Given the description of an element on the screen output the (x, y) to click on. 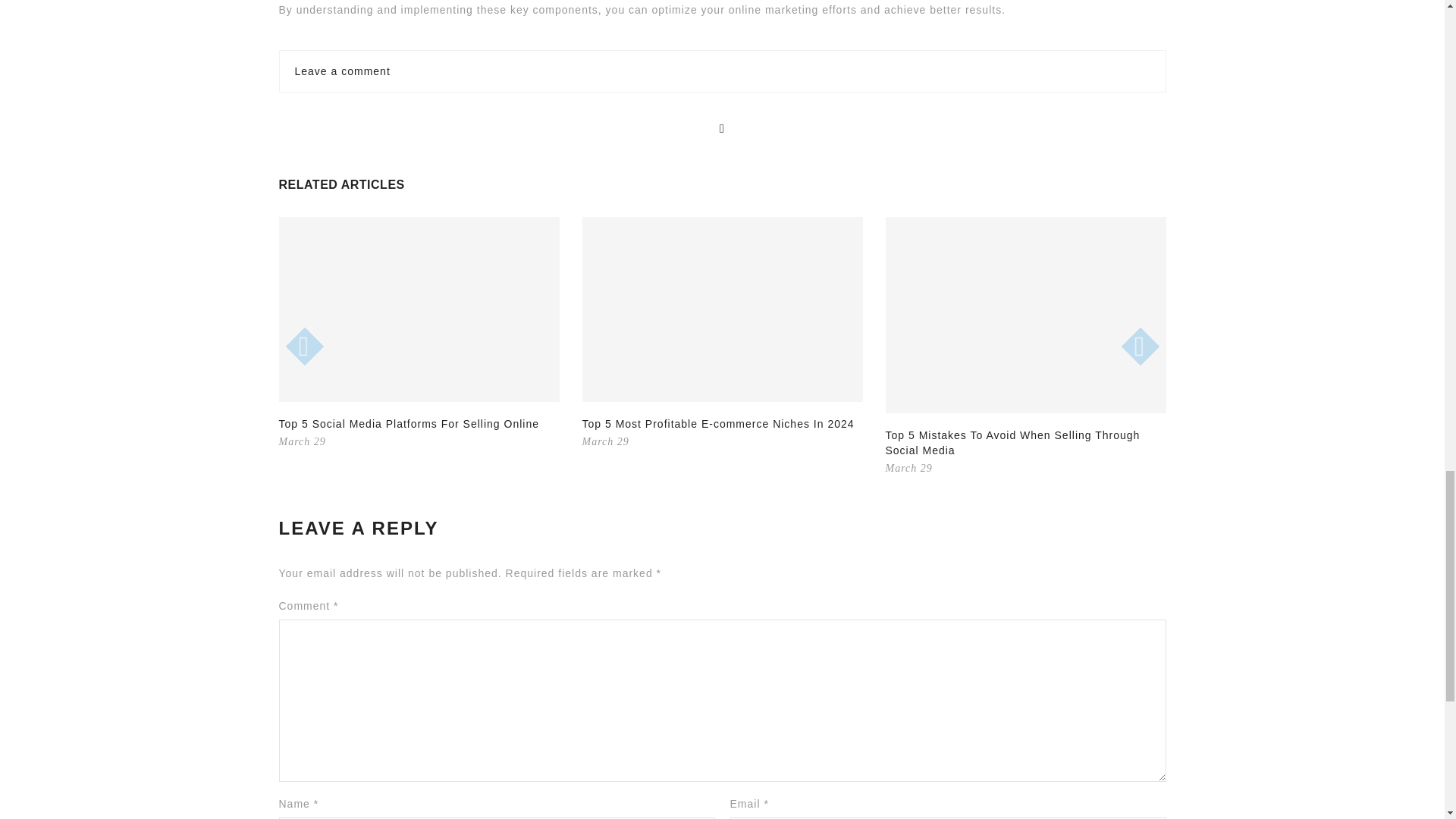
Top 5 Most Profitable E-commerce Niches In 2024 (718, 423)
Leave a comment (342, 70)
PREVIOUS (298, 339)
Top 5 Social Media Platforms For Selling Online (408, 423)
Top 5 Mistakes To Avoid When Selling Through Social Media (1012, 442)
